Given the description of an element on the screen output the (x, y) to click on. 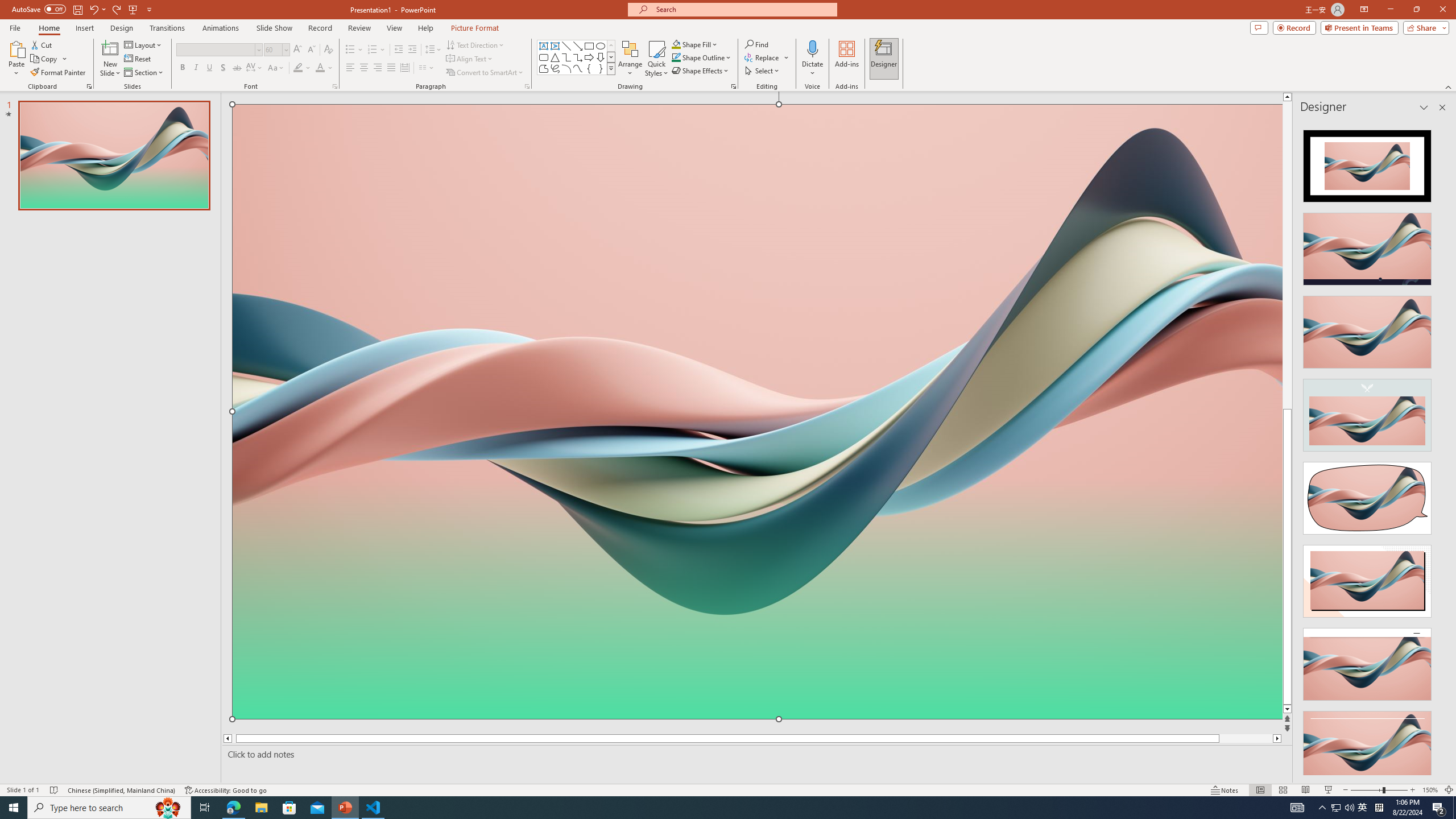
Decorative Locked (757, 579)
Shape Effects (700, 69)
